Given the description of an element on the screen output the (x, y) to click on. 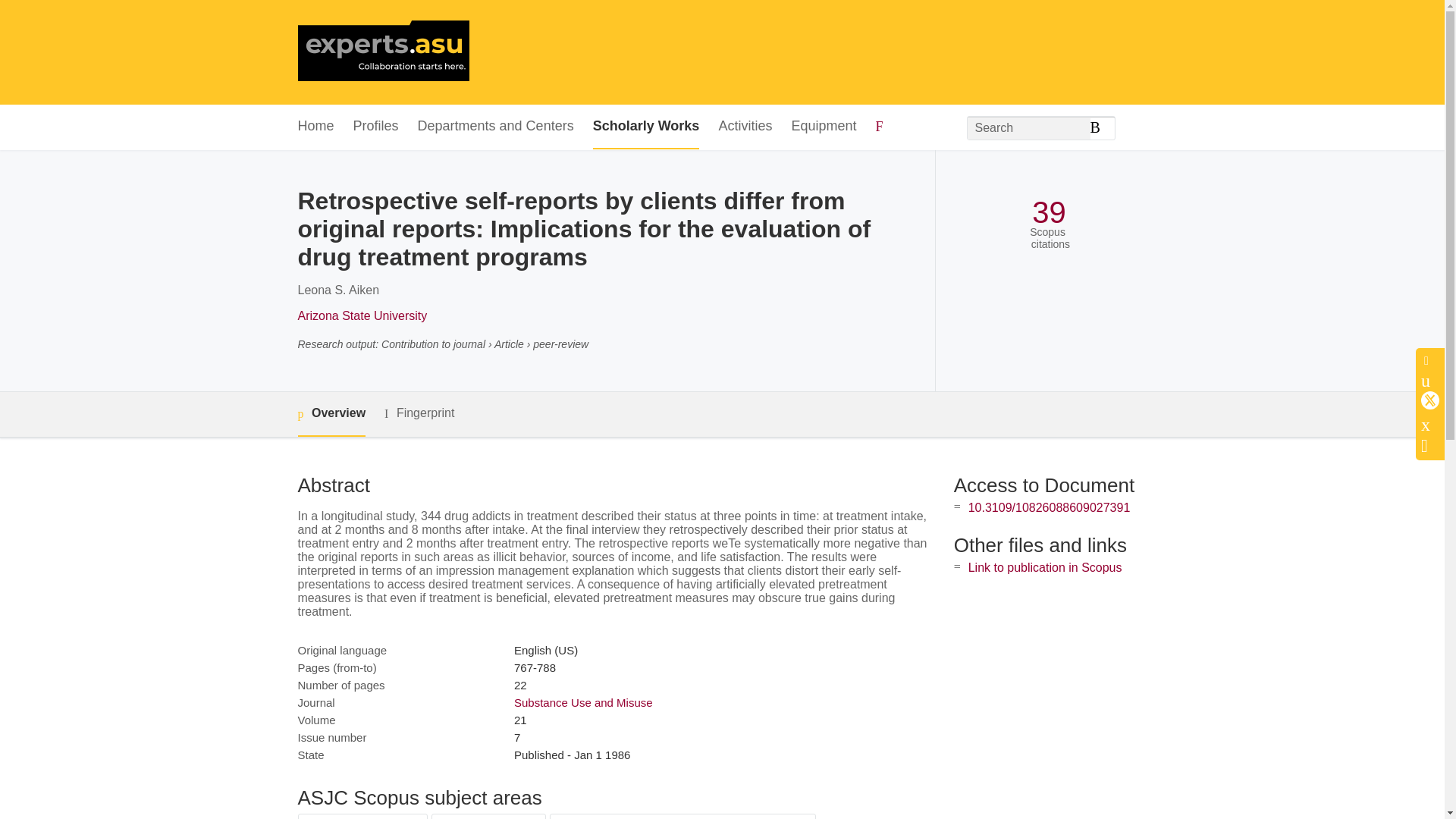
Overview (331, 414)
Activities (744, 126)
Scholarly Works (646, 126)
Fingerprint (419, 413)
Equipment (823, 126)
Substance Use and Misuse (582, 702)
39 (1048, 212)
Arizona State University Home (382, 52)
Link to publication in Scopus (1045, 567)
